Given the description of an element on the screen output the (x, y) to click on. 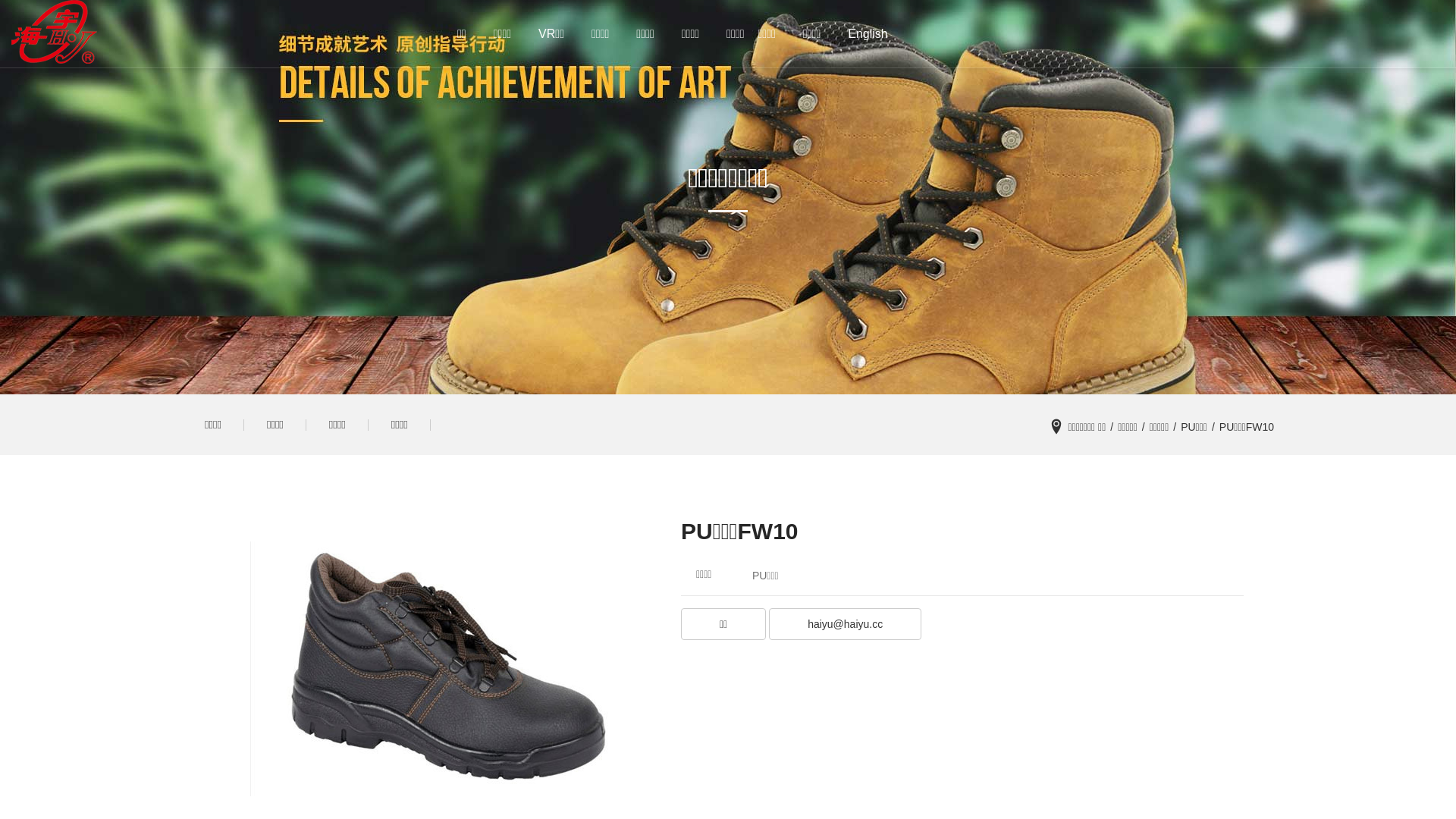
English Element type: text (867, 34)
haiyu@haiyu.cc Element type: text (844, 626)
haiyu@haiyu.cc Element type: text (844, 624)
